Given the description of an element on the screen output the (x, y) to click on. 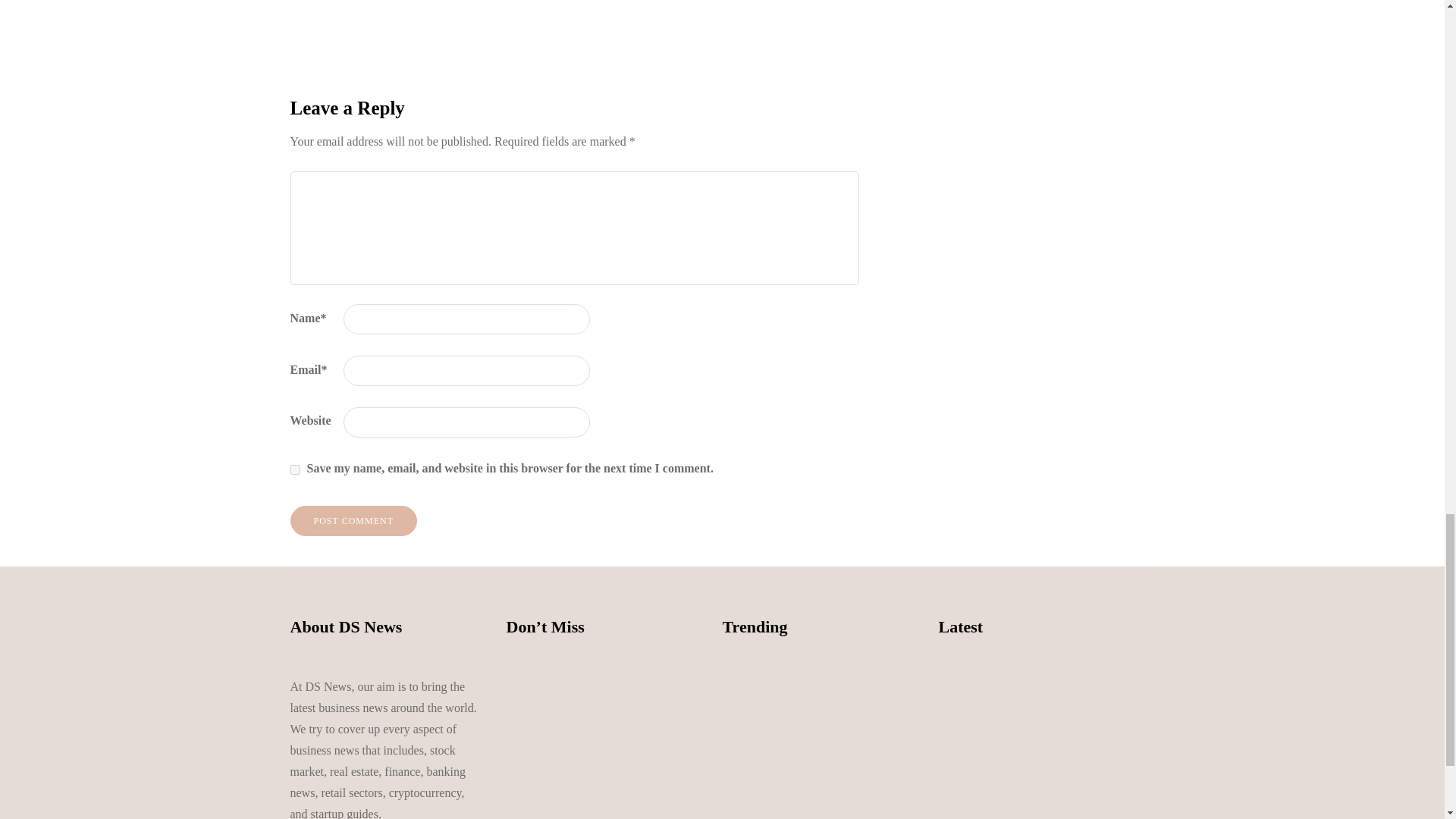
yes (294, 470)
Post comment (352, 521)
